Given the description of an element on the screen output the (x, y) to click on. 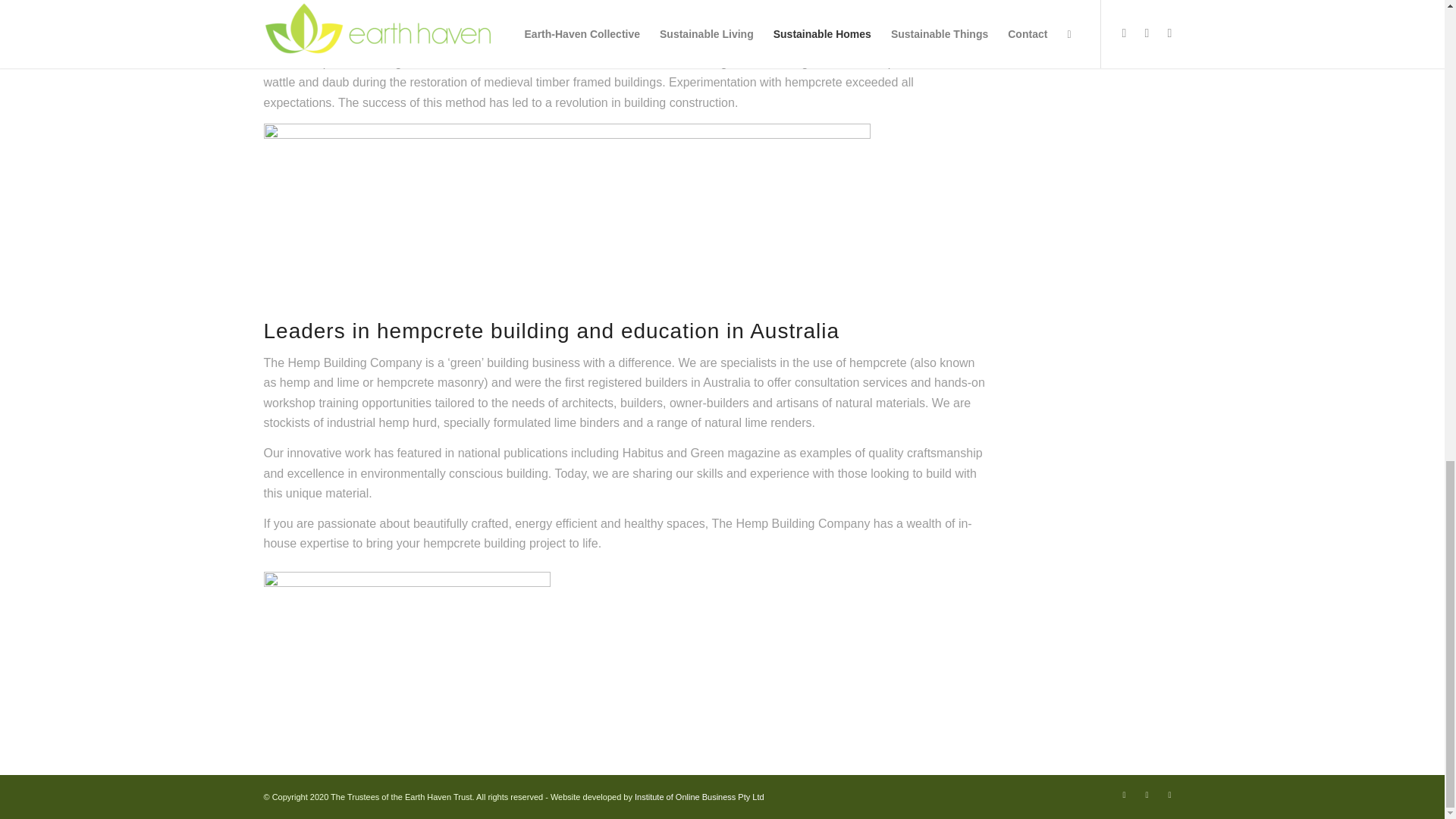
Instagram (1146, 793)
LinkedIn (1169, 793)
Facebook (1124, 793)
